Given the description of an element on the screen output the (x, y) to click on. 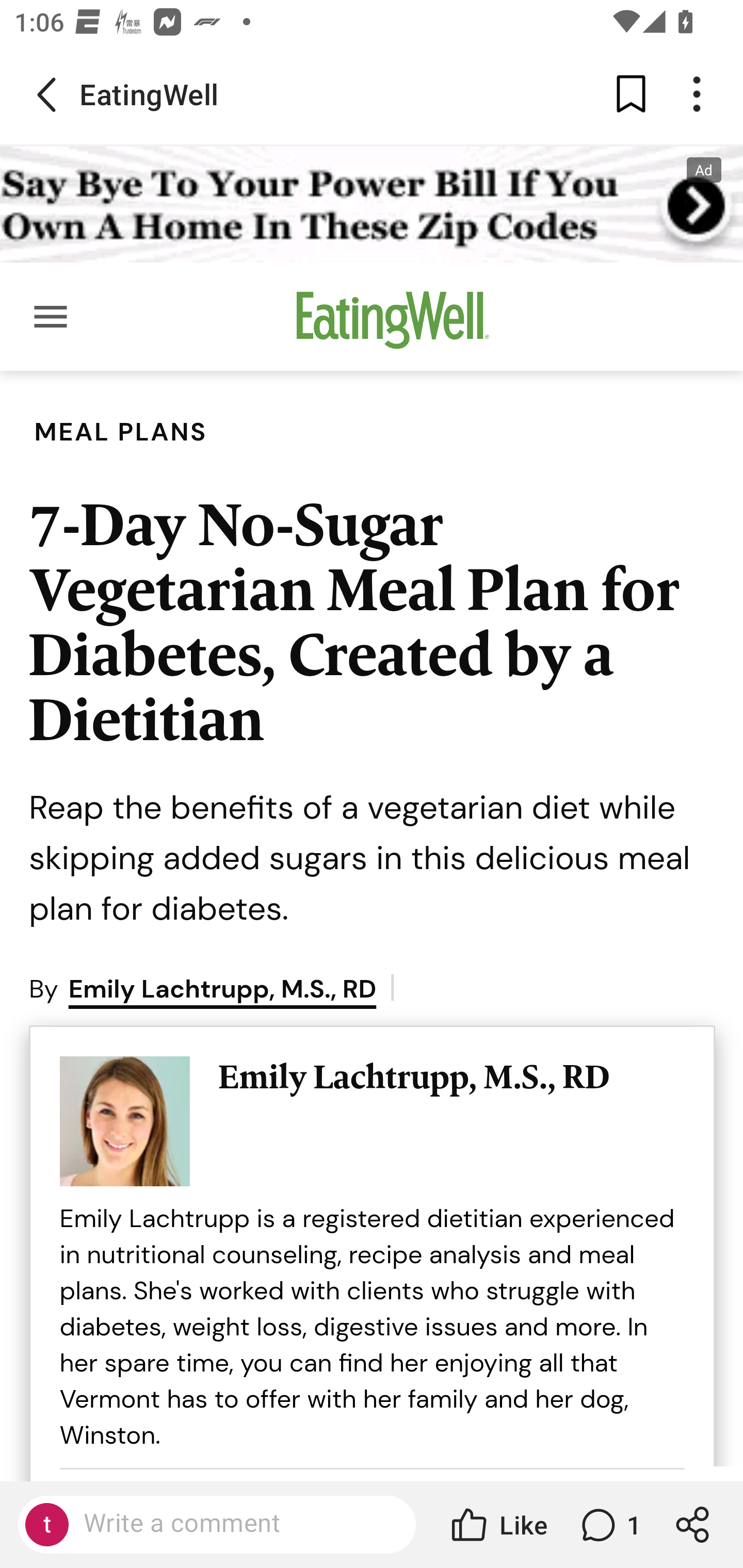
Visit EatingWell's homepage EatingWell (393, 325)
Main menu for EatingWell (50, 316)
MEAL PLANS (121, 432)
Emily Lachtrupp, M.S., RD (221, 990)
Emily Lachtrupp, M.S., RD (451, 1077)
In This Article (372, 1331)
Why This Meal Plan Is Great for You (291, 1400)
Like (497, 1524)
1 (608, 1524)
Write a comment (234, 1523)
